Given the description of an element on the screen output the (x, y) to click on. 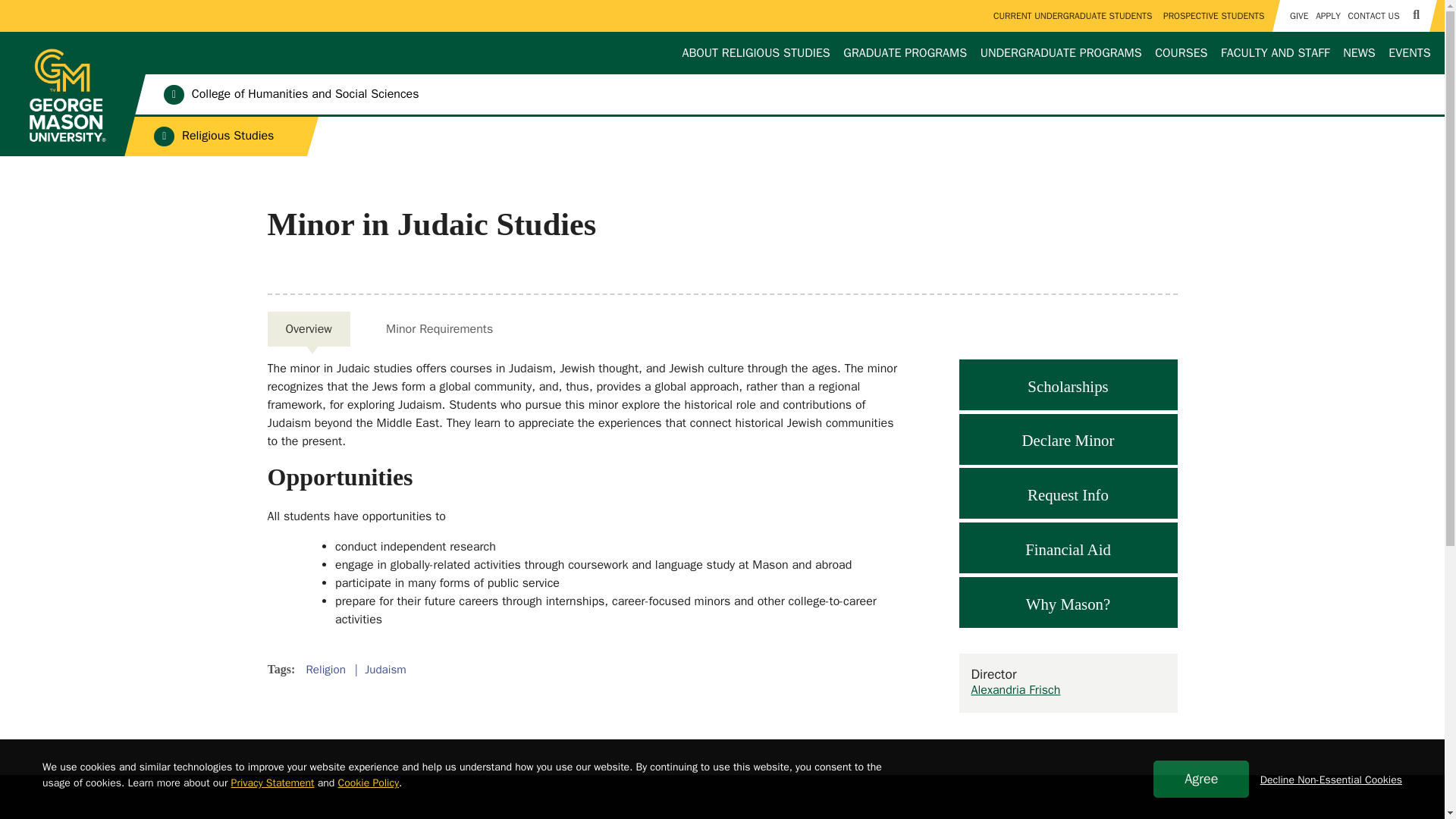
Undergraduate Programs (1061, 52)
George Mason University Cookie Policy (367, 782)
GRADUATE PROGRAMS (905, 52)
News (1359, 52)
Decline Non-Essential Cookies (1331, 779)
FACULTY AND STAFF (1275, 52)
CURRENT UNDERGRADUATE STUDENTS (1073, 15)
NEWS (1359, 52)
EVENTS (1409, 52)
ABOUT RELIGIOUS STUDIES (755, 52)
Events (1409, 52)
Faculty and Staff (1275, 52)
CONTACT US (1373, 15)
APPLY (1327, 15)
Cookie Policy (367, 782)
